Given the description of an element on the screen output the (x, y) to click on. 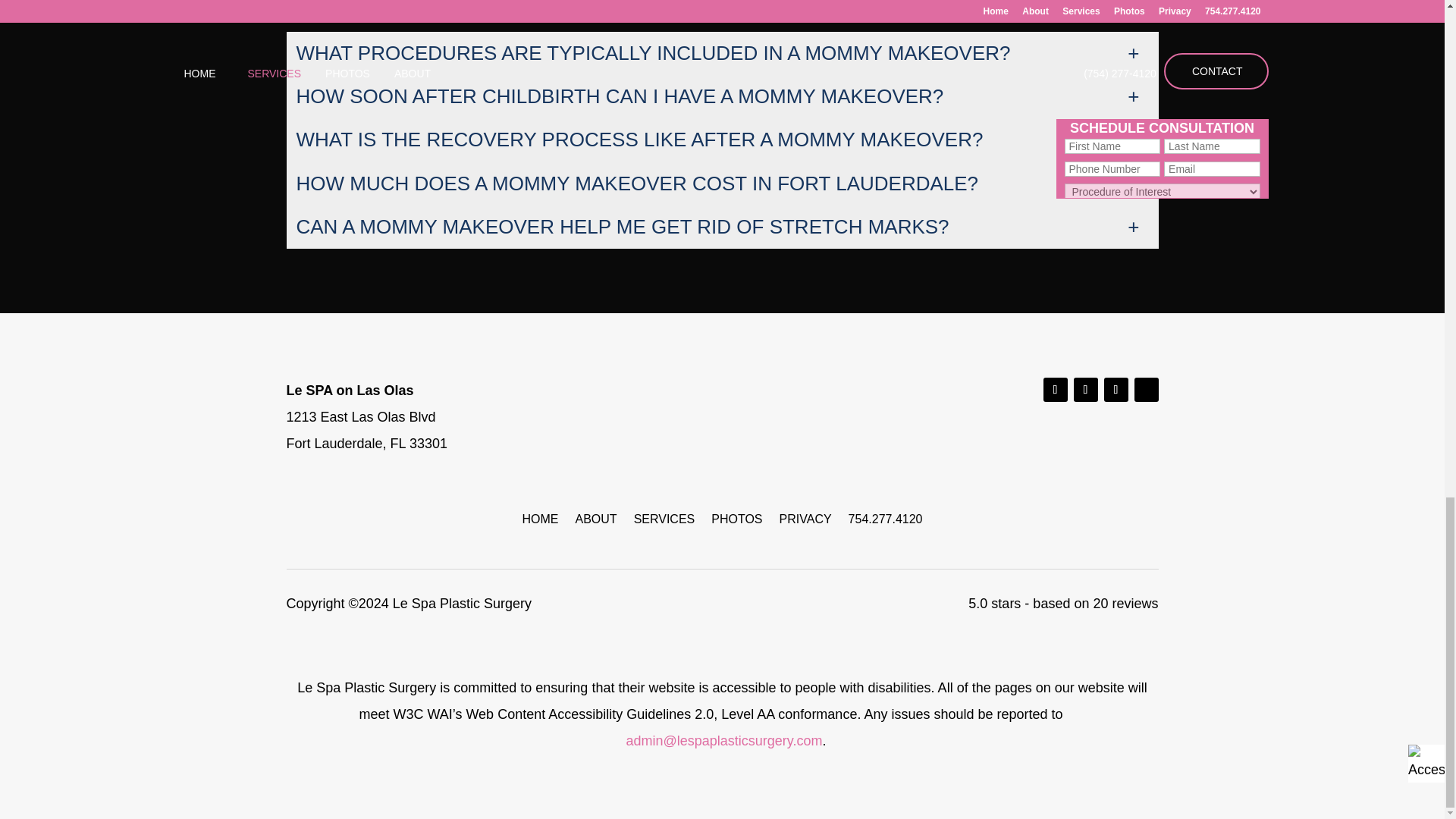
Follow on Youtube (1115, 389)
Follow on Facebook (1085, 389)
Follow on RSS (1146, 389)
Follow on Instagram (1055, 389)
